Given the description of an element on the screen output the (x, y) to click on. 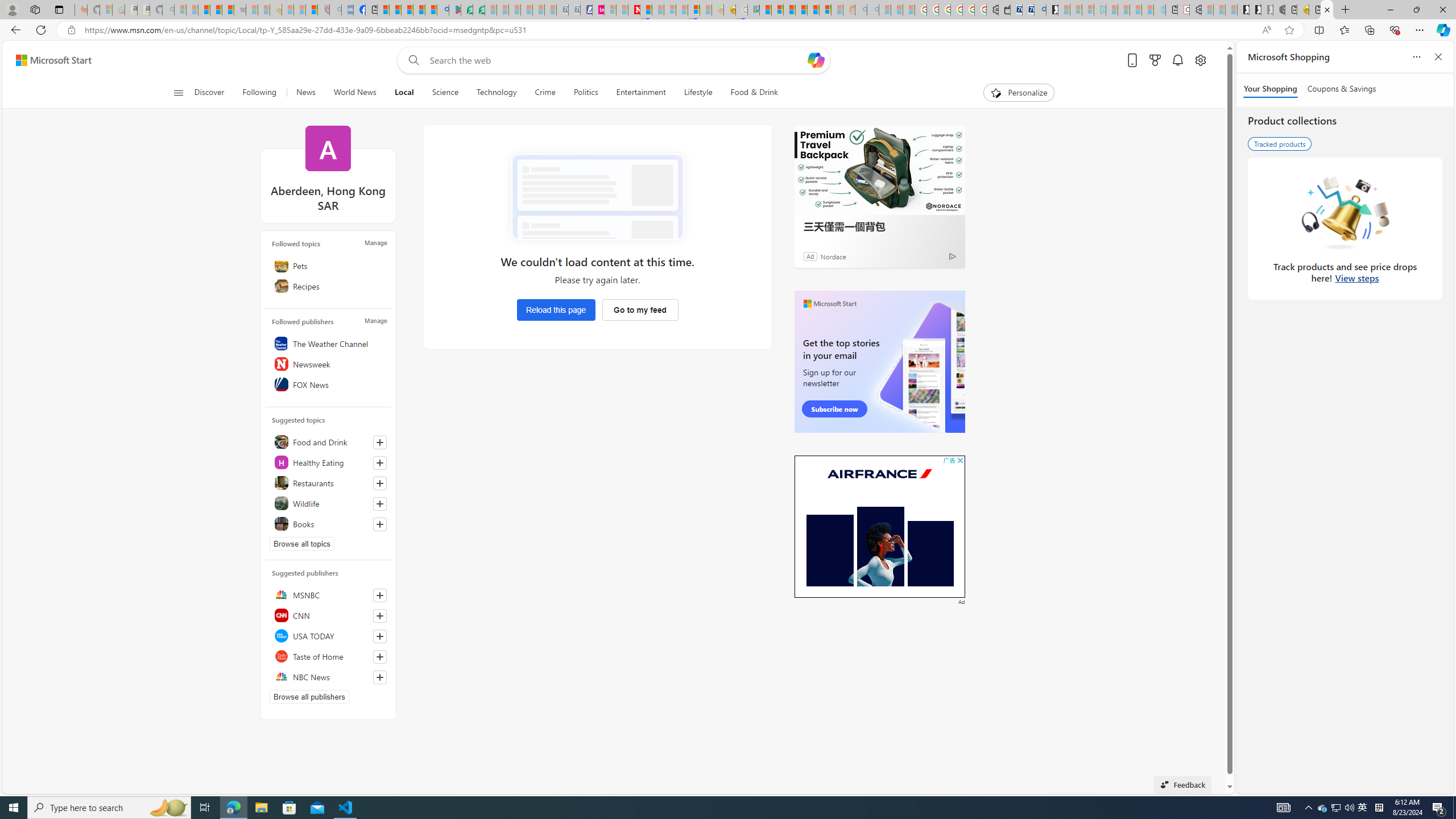
Crime (544, 92)
Food & Drink (748, 92)
New Report Confirms 2023 Was Record Hot | Watch - Sleeping (227, 9)
Trusted Community Engagement and Contributions | Guidelines (645, 9)
Local (403, 92)
DITOGAMES AG Imprint (753, 9)
